Given the description of an element on the screen output the (x, y) to click on. 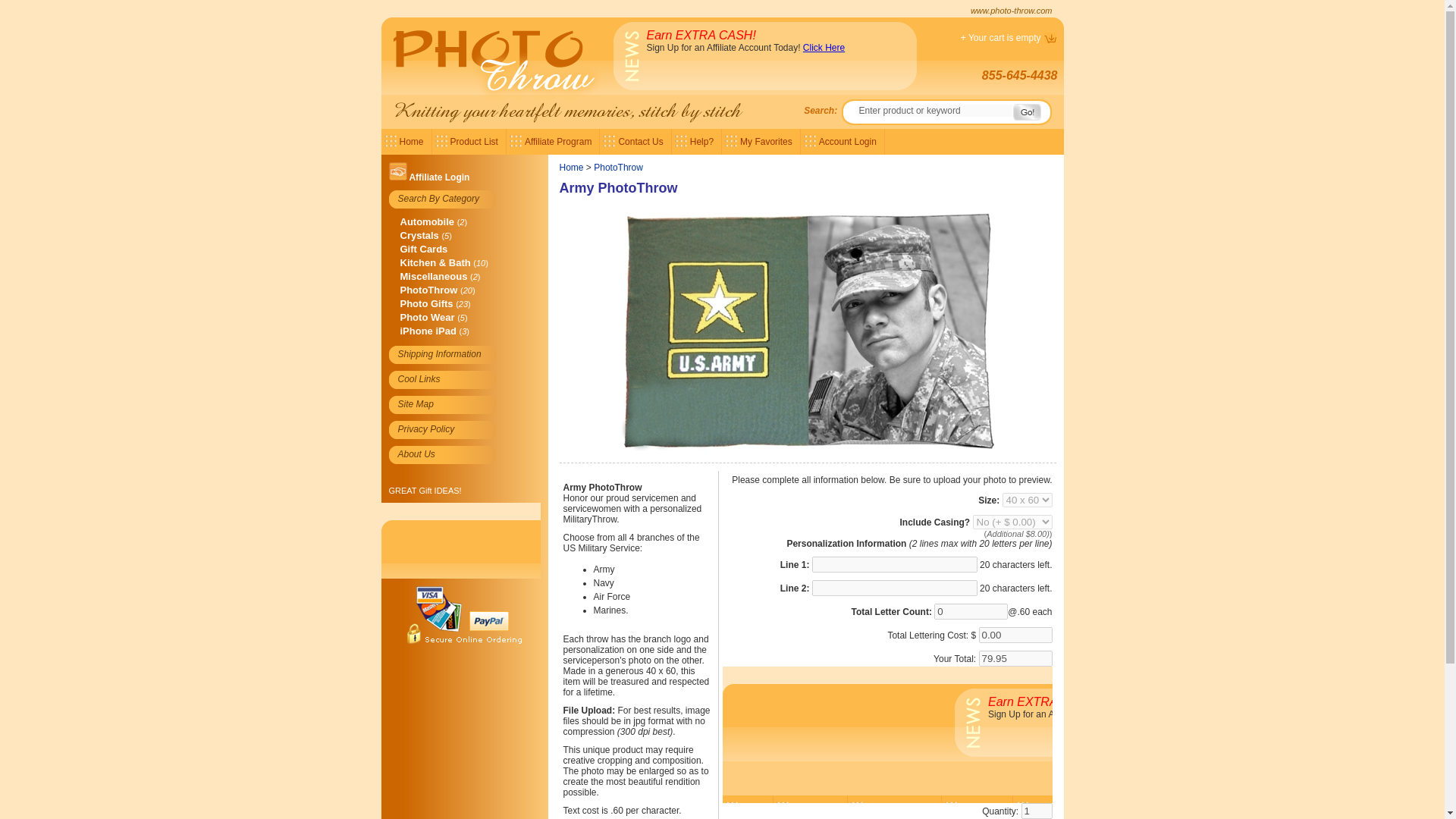
Miscellaneous (433, 276)
79.95 (1014, 658)
Click Here (823, 47)
Product List (469, 141)
Enter product or keyword (935, 110)
Crystals (419, 235)
0 (970, 611)
0.00 (1014, 634)
Help? (696, 141)
Gift Cards (424, 248)
My Favorites (761, 141)
Affiliate Program (552, 141)
Home (405, 141)
Contact Us (635, 141)
Automobile (427, 221)
